Given the description of an element on the screen output the (x, y) to click on. 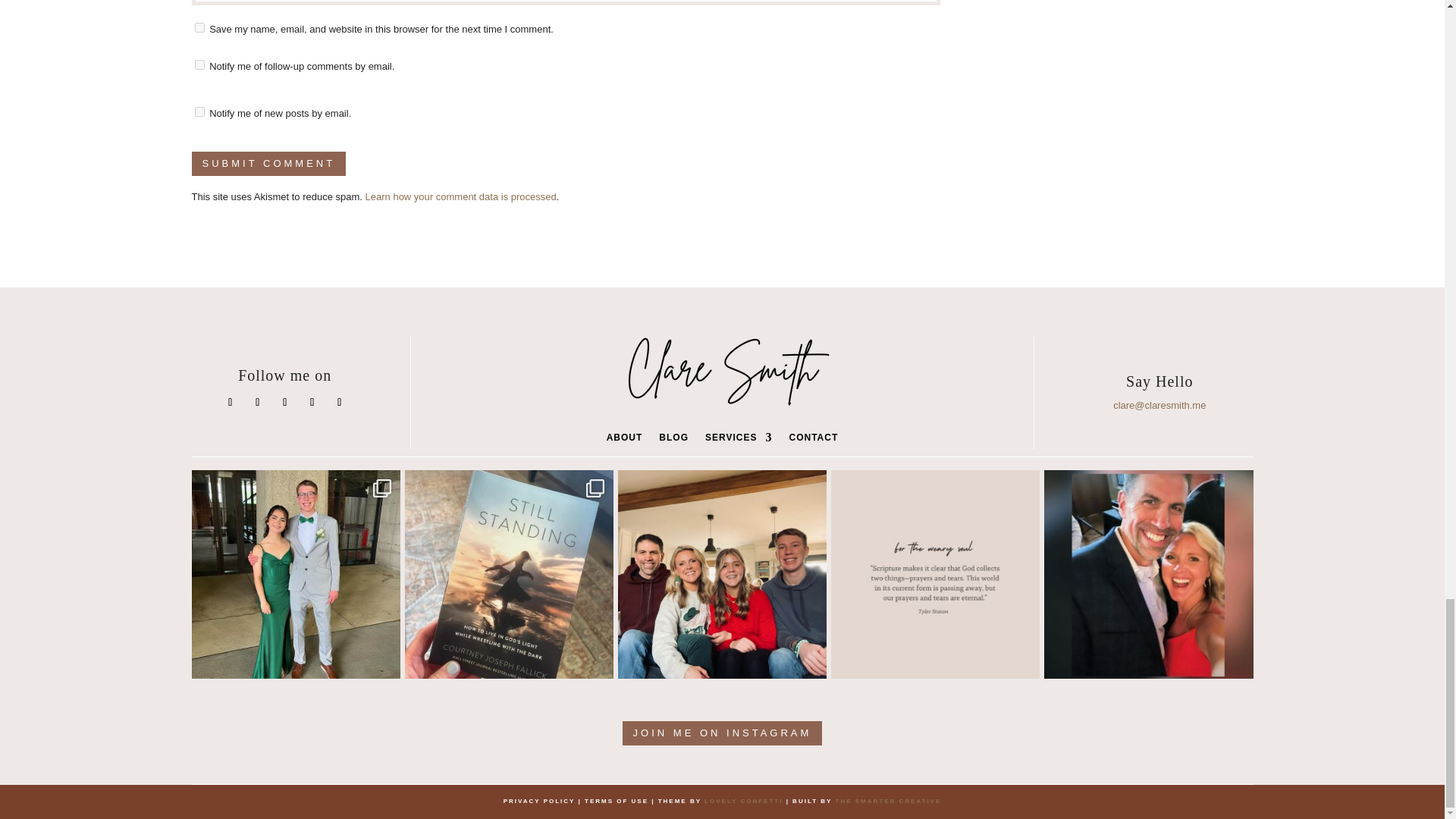
Follow on Facebook (230, 402)
Learn how your comment data is processed (460, 196)
Submit Comment (268, 163)
subscribe (198, 112)
Clare Smith Signature (721, 374)
Follow on X (285, 402)
Follow on Instagram (257, 402)
Follow on Youtube (339, 402)
subscribe (198, 64)
Follow on Pinterest (312, 402)
Submit Comment (268, 163)
yes (198, 27)
